Given the description of an element on the screen output the (x, y) to click on. 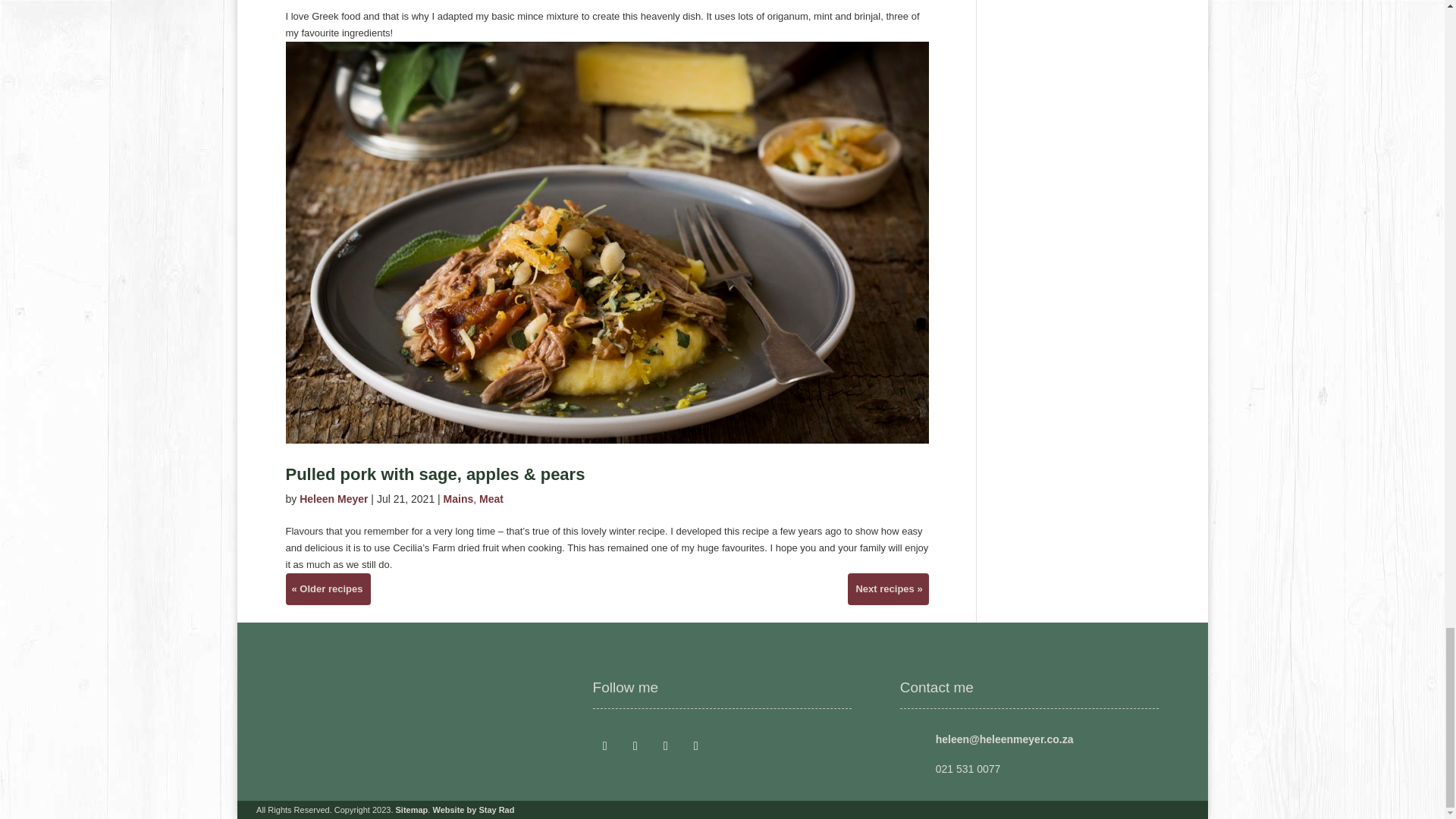
Follow on Facebook (604, 745)
Follow on Pinterest (665, 745)
Posts by Heleen Meyer (333, 499)
Follow on Youtube (695, 745)
Follow on Instagram (635, 745)
